Given the description of an element on the screen output the (x, y) to click on. 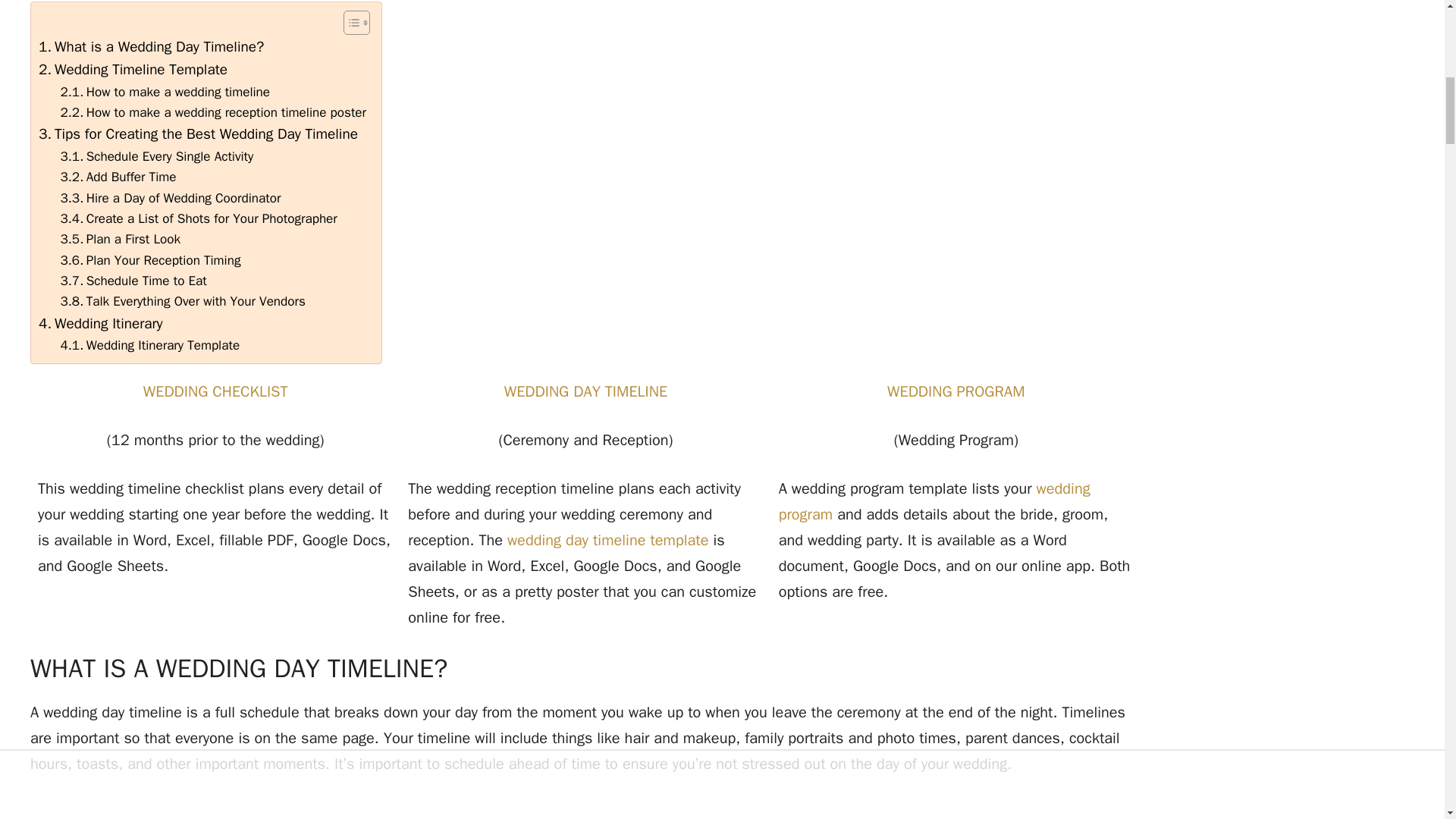
Wedding Itinerary Template (150, 344)
What is a Wedding Day Timeline? (151, 47)
Wedding Itinerary (101, 323)
Hire a Day of Wedding Coordinator (171, 198)
How to make a wedding timeline (165, 91)
Schedule Time to Eat (133, 281)
Add Buffer Time (118, 177)
Talk Everything Over with Your Vendors (183, 301)
Plan a First Look (120, 239)
Schedule Every Single Activity (157, 156)
